Given the description of an element on the screen output the (x, y) to click on. 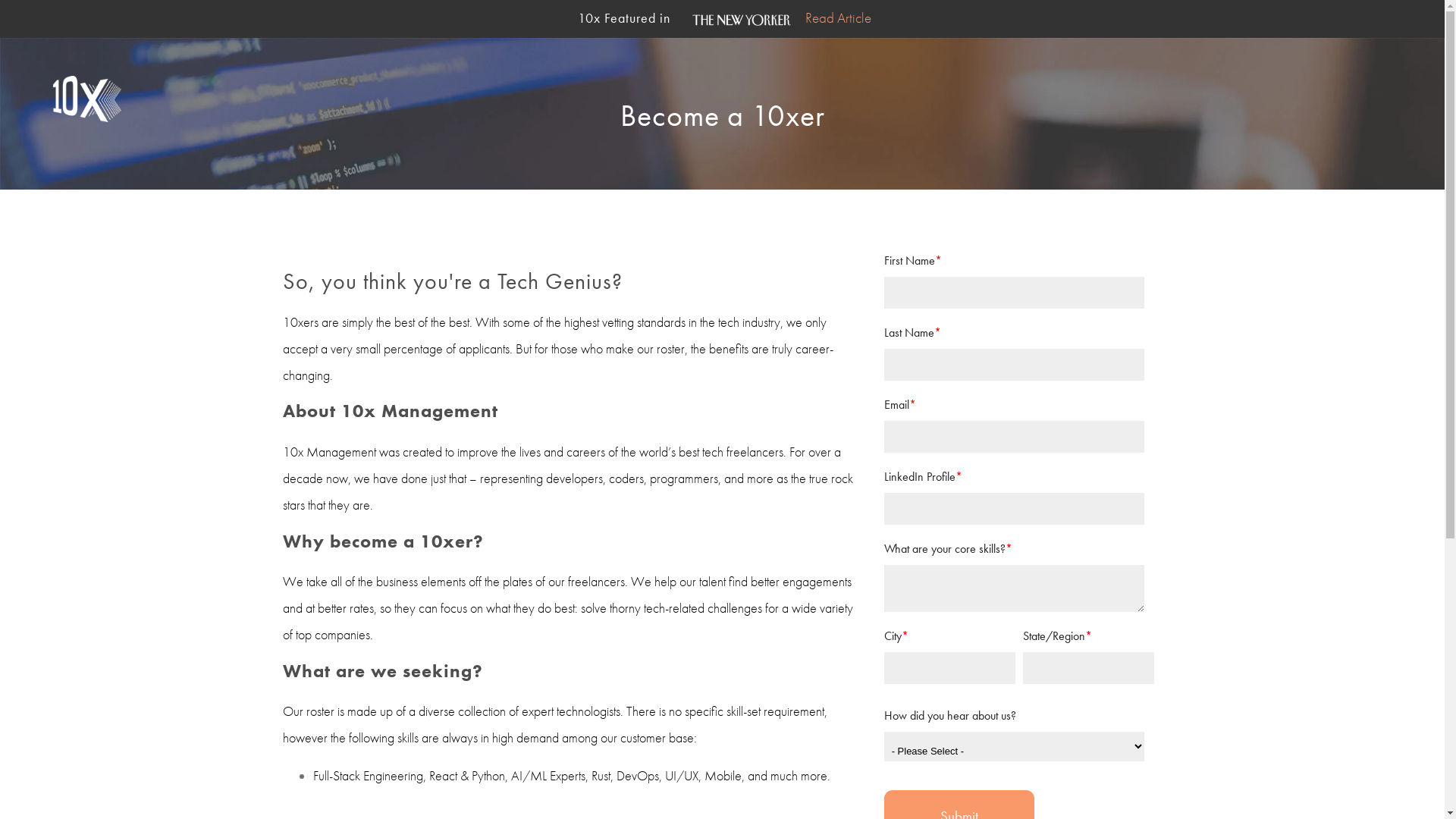
Submit Element type: text (871, 742)
Read Article Element type: text (838, 18)
